Given the description of an element on the screen output the (x, y) to click on. 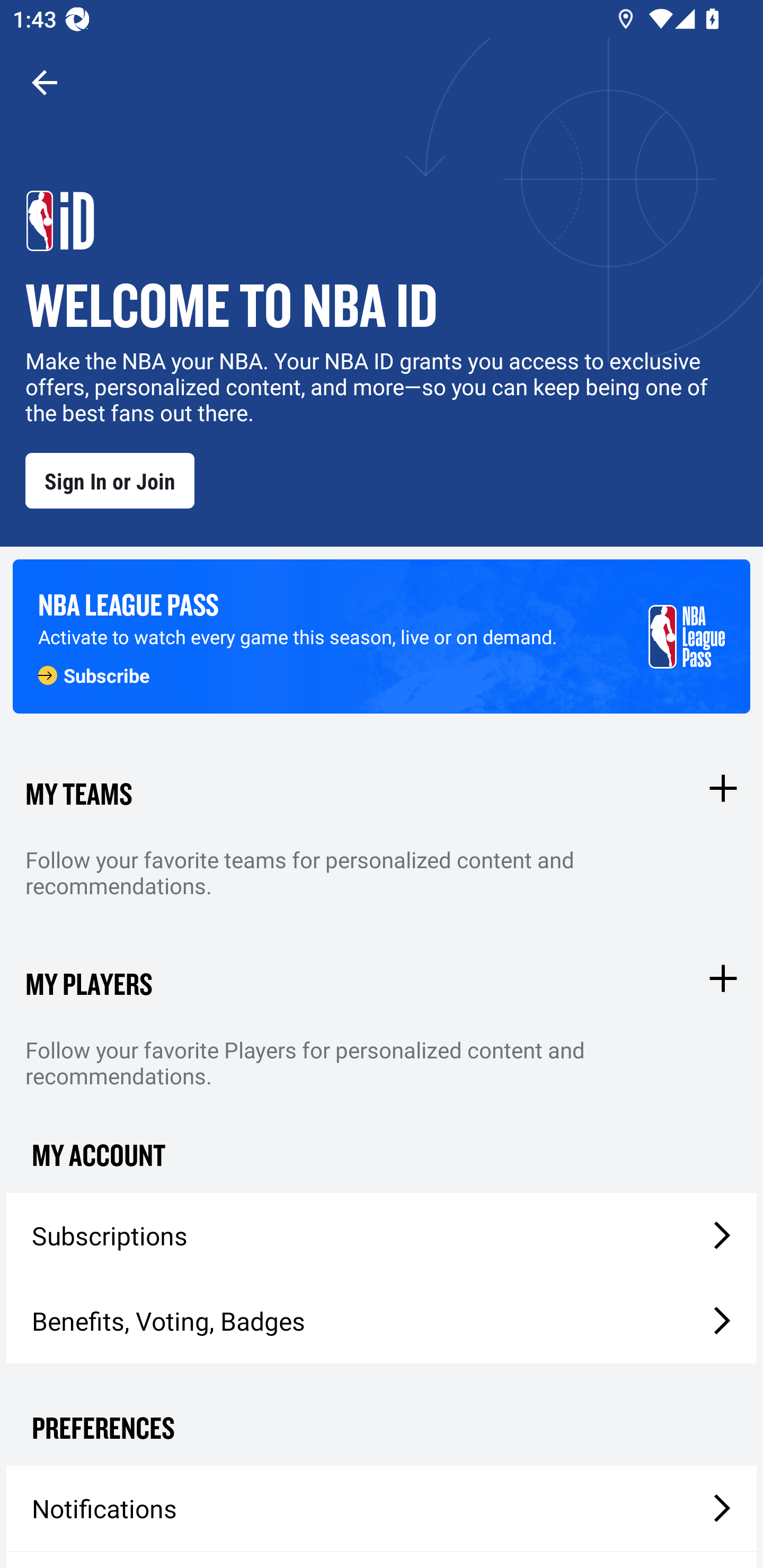
Navigate up (44, 82)
Sign In or Join (109, 480)
Subscriptions (381, 1235)
Benefits, Voting, Badges (381, 1320)
Notifications (381, 1508)
